Given the description of an element on the screen output the (x, y) to click on. 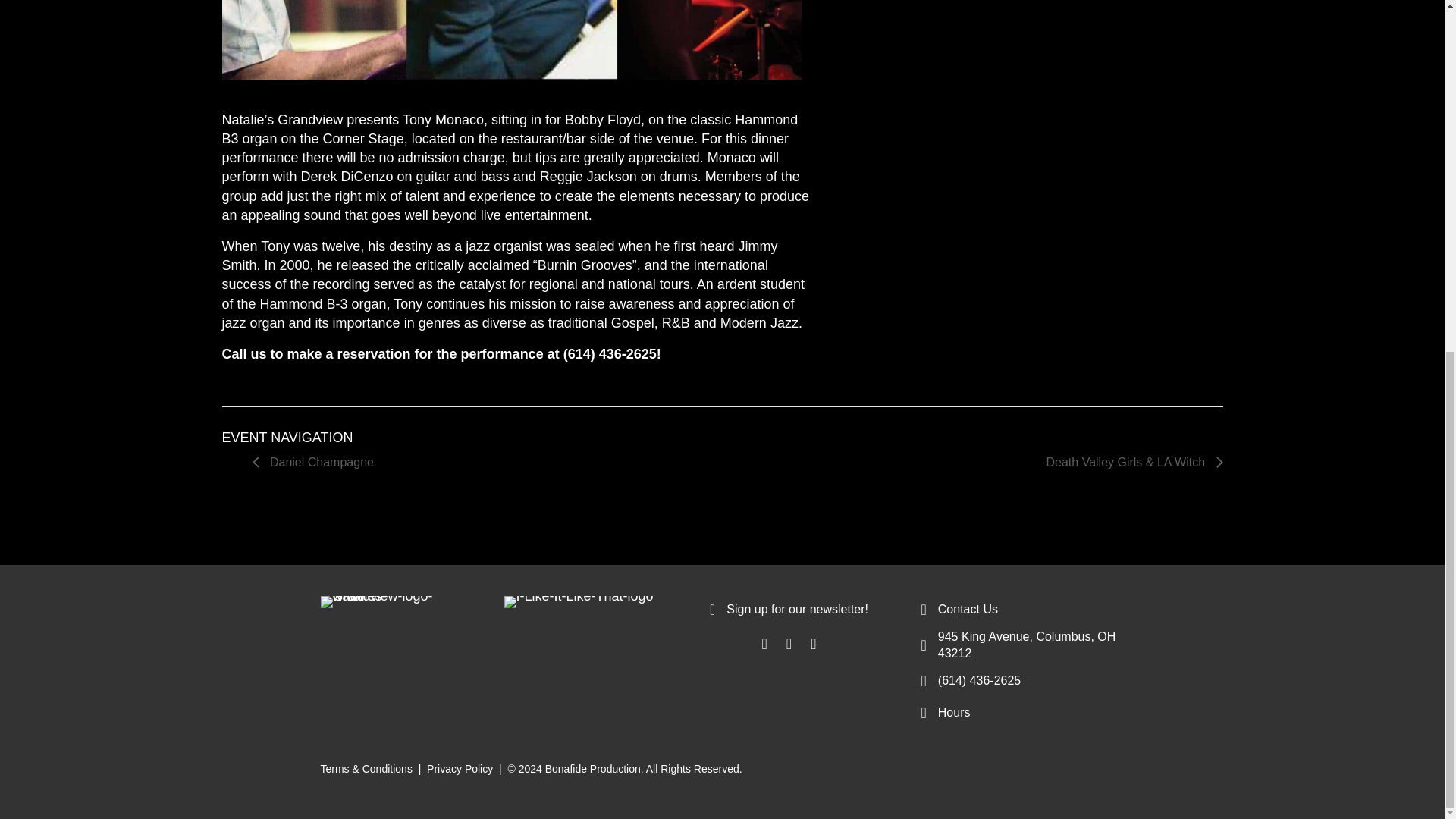
I-Like-It-Like-That-logo (577, 602)
Tony Monaco, Derek DiCenzo, Reggie Jackson (510, 40)
Natalies-Grandview-logo-white (376, 602)
